Given the description of an element on the screen output the (x, y) to click on. 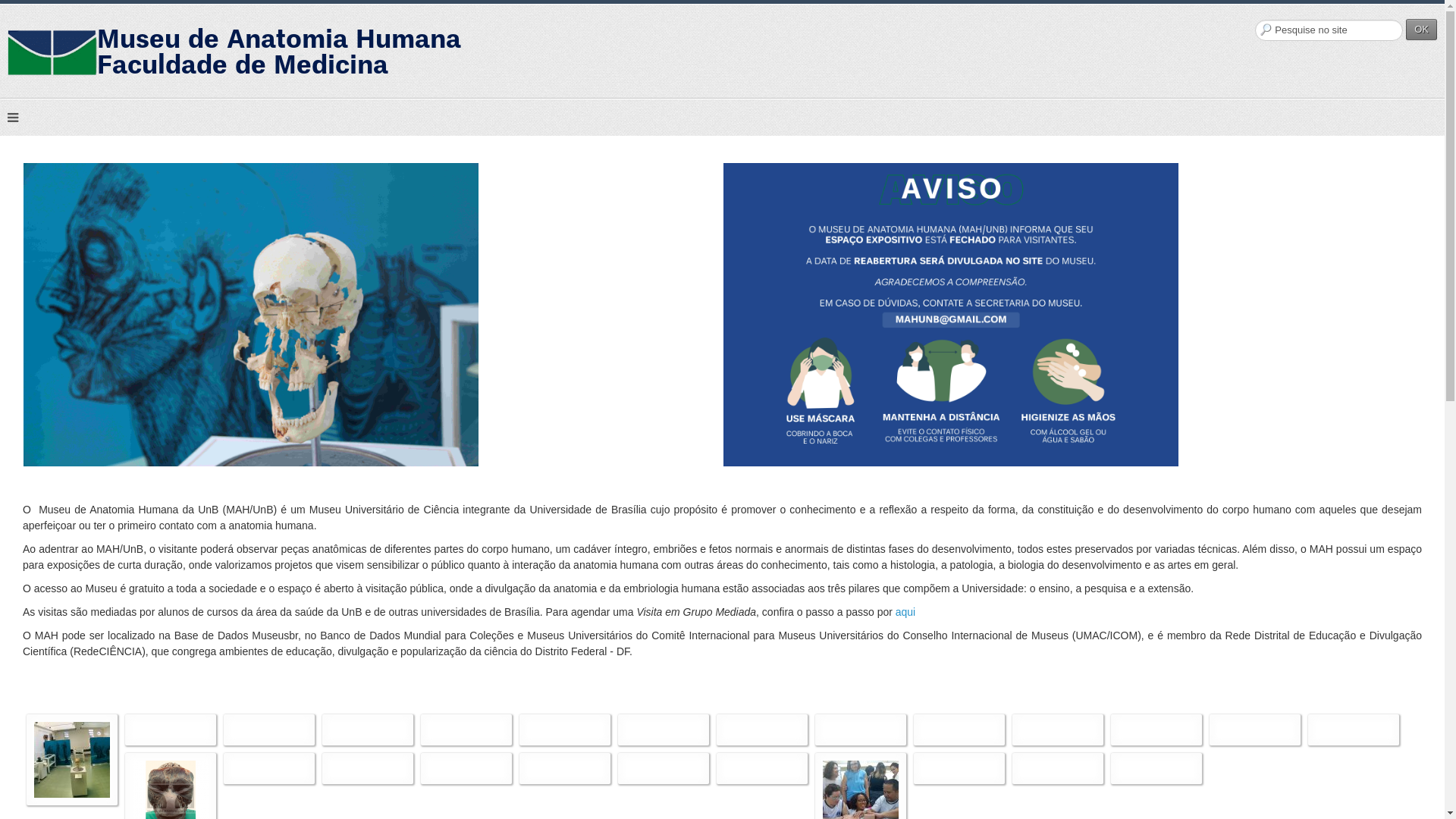
Clique para acessar a circular Element type: hover (950, 312)
OK Element type: text (1421, 29)
Sala de Anatomia de Membros Superiores Element type: hover (71, 759)
aqui Element type: text (905, 611)
